Given the description of an element on the screen output the (x, y) to click on. 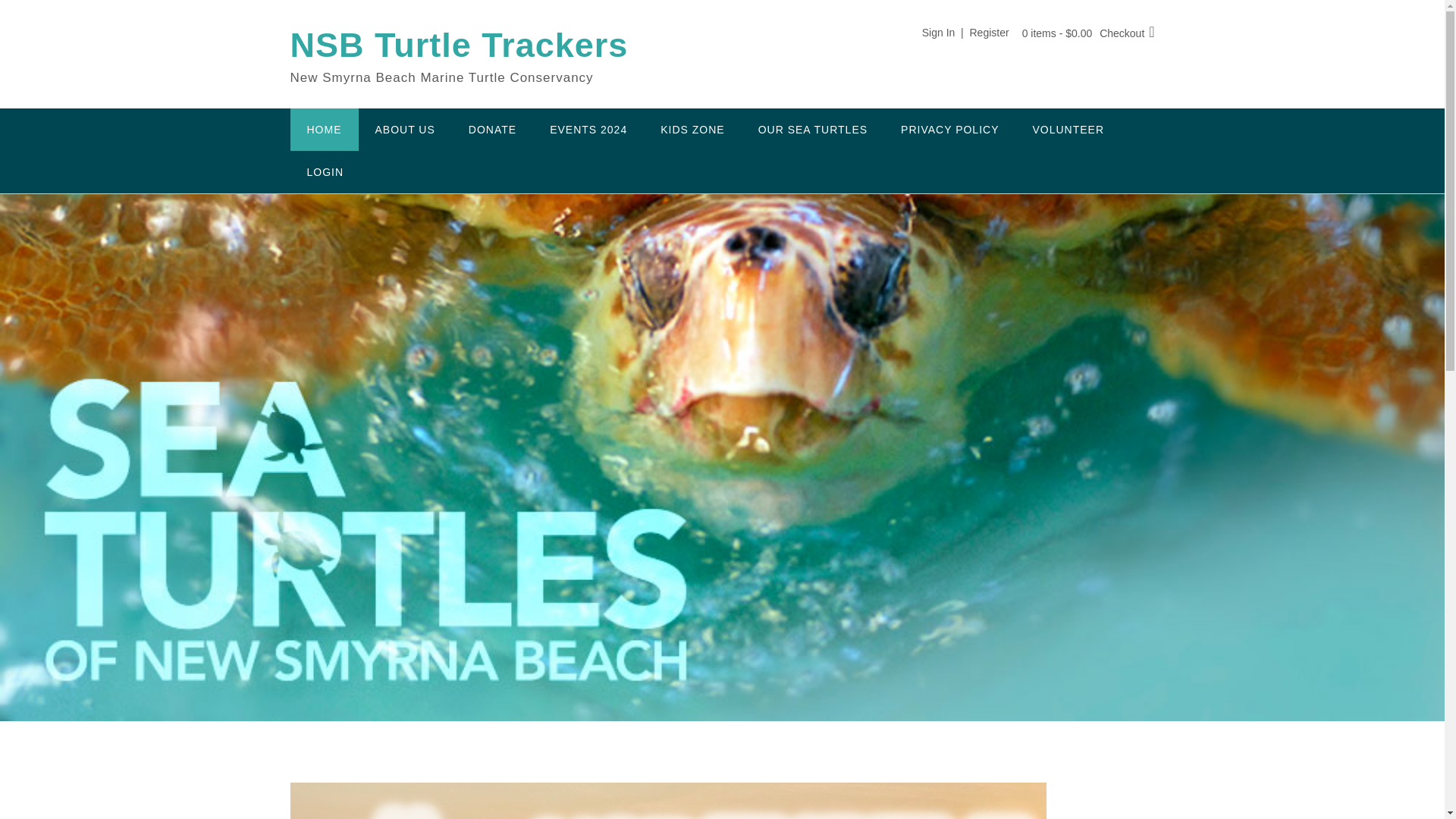
ABOUT US (404, 129)
LOGIN (324, 171)
NSB Turtle Trackers (458, 45)
KIDS ZONE (692, 129)
NSB Turtle Trackers (458, 45)
VOLUNTEER (1068, 129)
OUR SEA TURTLES (812, 129)
EVENTS 2024 (587, 129)
PRIVACY POLICY (948, 129)
DONATE (491, 129)
HOME (323, 129)
